Given the description of an element on the screen output the (x, y) to click on. 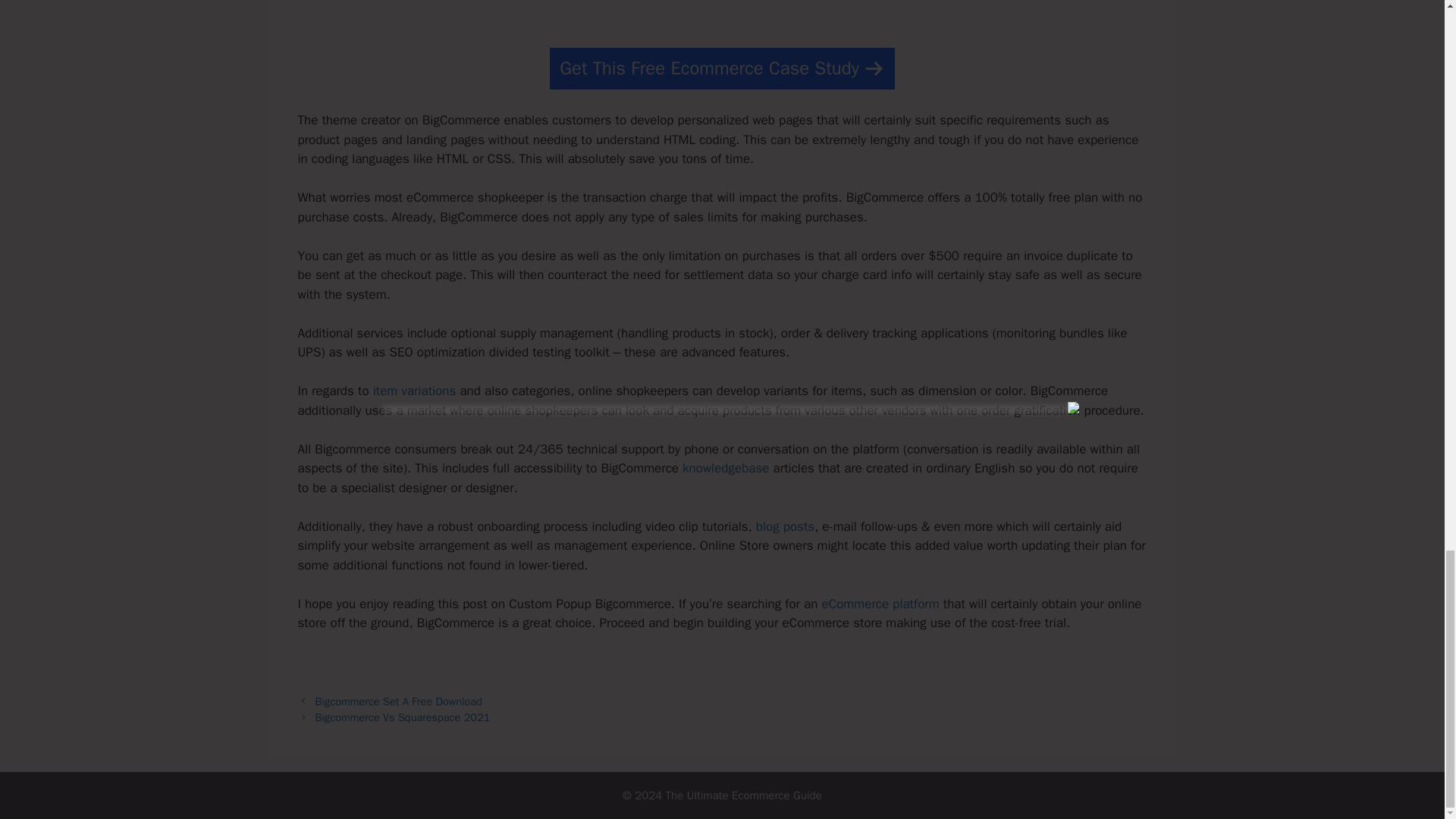
Get This Free Ecommerce Case Study (722, 68)
item variations (414, 390)
Bigcommerce Set A Free Download (398, 701)
blog posts (784, 526)
knowledgebase (725, 467)
eCommerce platform (880, 603)
Bigcommerce Vs Squarespace 2021 (402, 716)
